Given the description of an element on the screen output the (x, y) to click on. 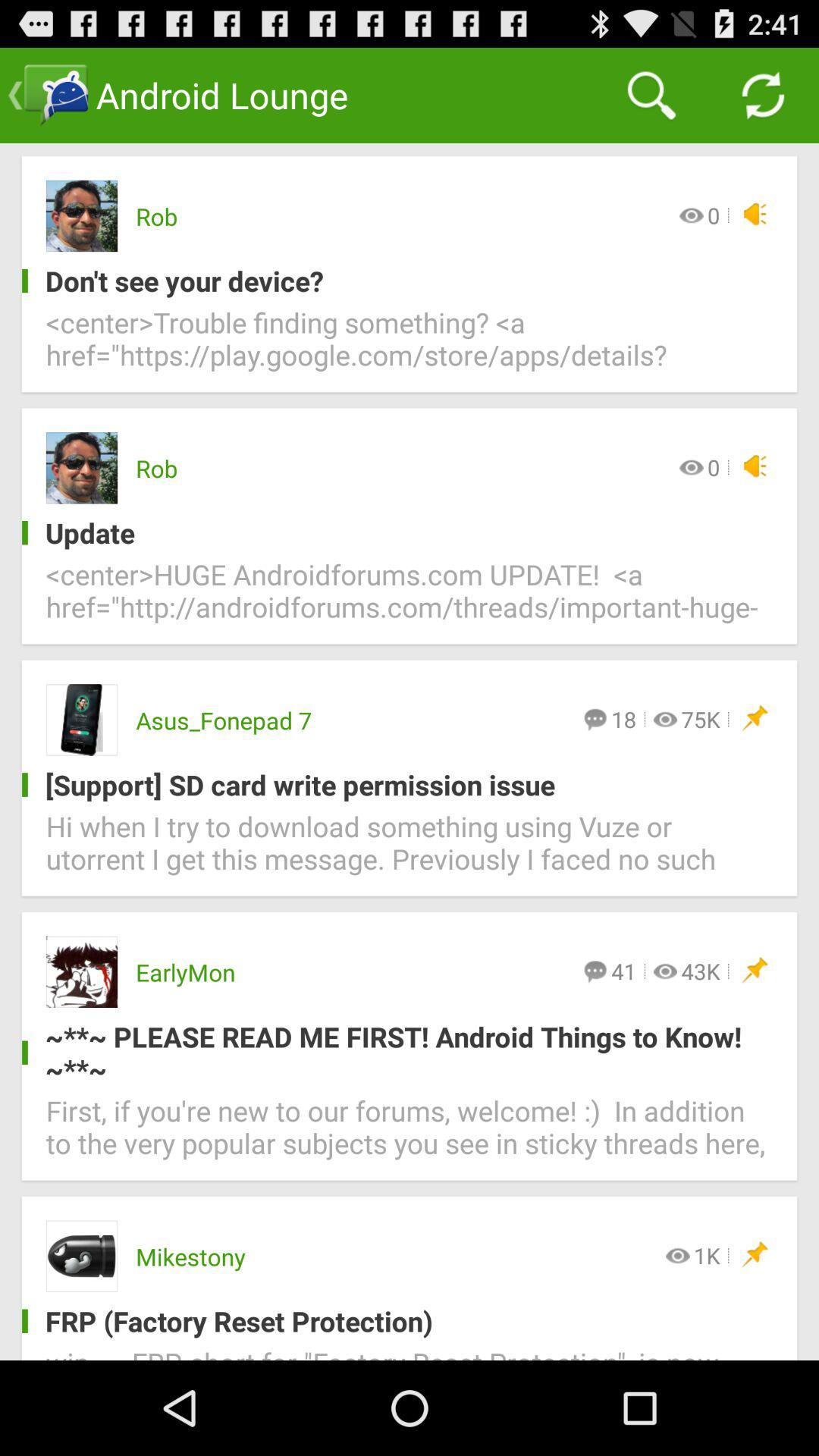
press the icon above the please read me (700, 971)
